Given the description of an element on the screen output the (x, y) to click on. 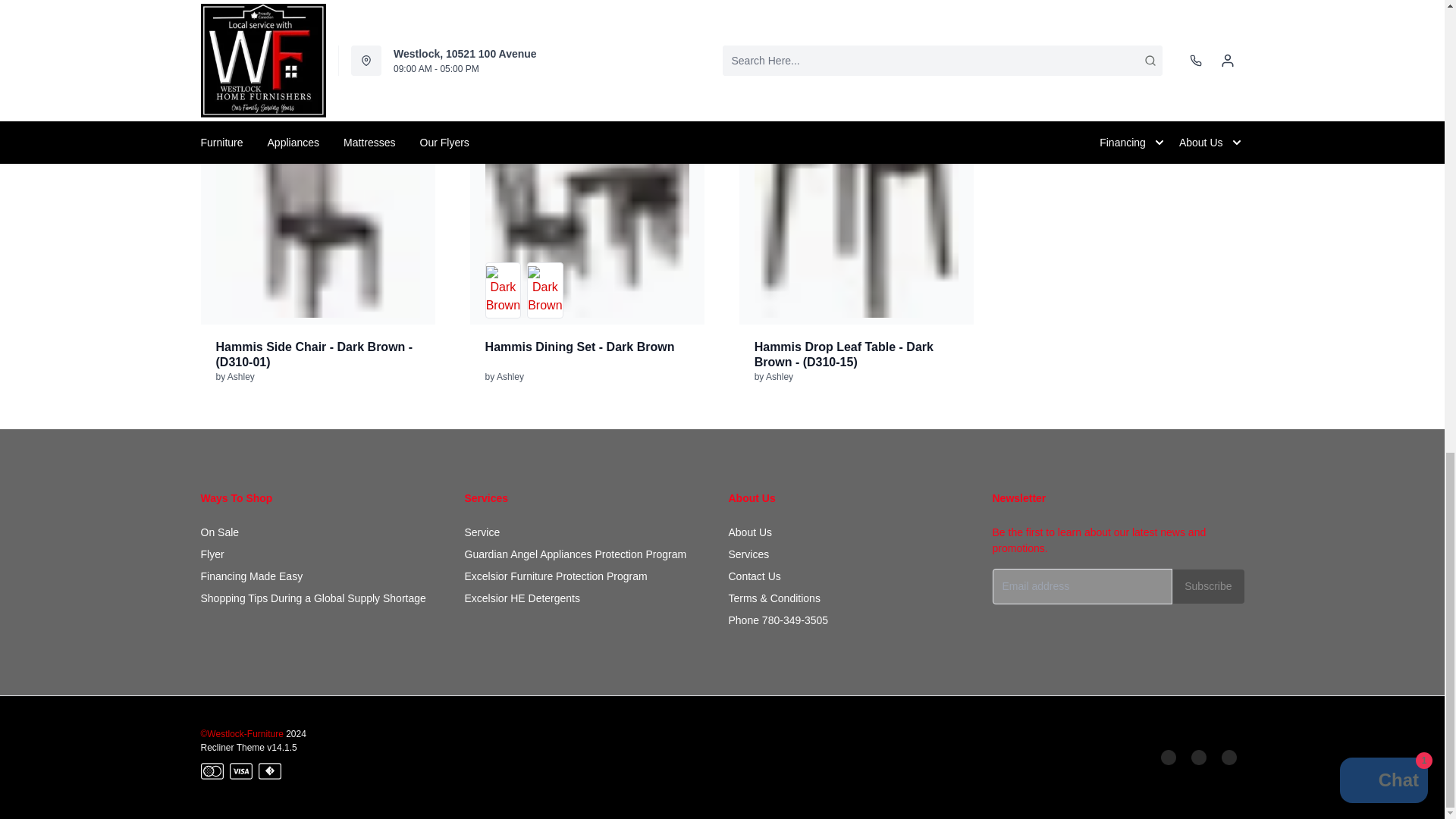
Hammis Dining Set - Dark Brown (587, 215)
